Given the description of an element on the screen output the (x, y) to click on. 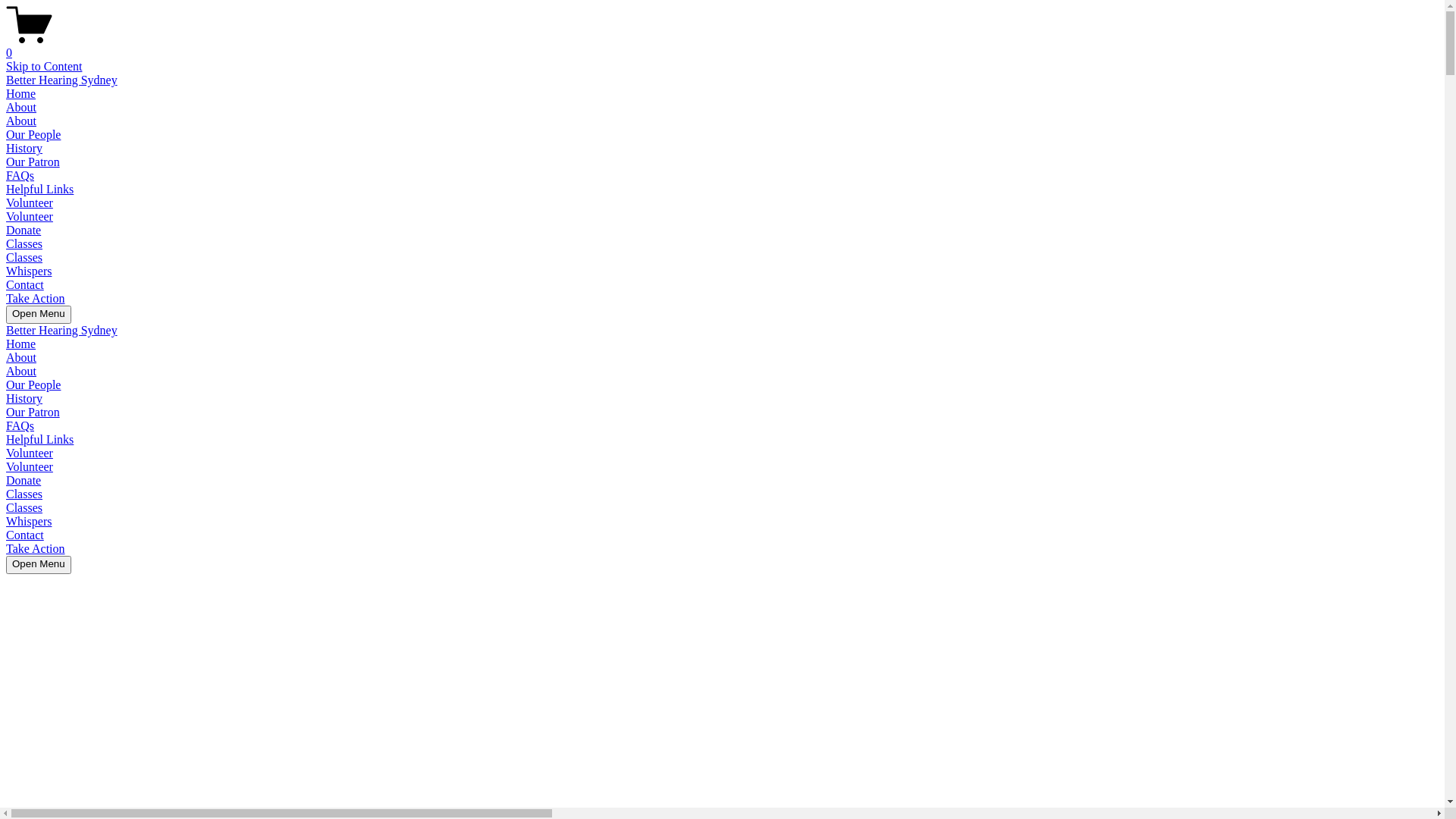
Donate Element type: text (23, 479)
Open Menu Element type: text (38, 314)
Whispers Element type: text (28, 520)
Better Hearing Sydney Element type: text (61, 79)
Take Action Element type: text (35, 548)
Volunteer Element type: text (29, 202)
About Element type: text (21, 120)
Volunteer Element type: text (29, 452)
About Element type: text (21, 357)
Volunteer Element type: text (29, 216)
Classes Element type: text (24, 257)
Our People Element type: text (33, 384)
Take Action Element type: text (35, 297)
About Element type: text (21, 370)
FAQs Element type: text (20, 175)
Home Element type: text (20, 93)
About Element type: text (21, 106)
Helpful Links Element type: text (39, 188)
Our Patron Element type: text (32, 411)
Open Menu Element type: text (38, 564)
History Element type: text (24, 398)
Whispers Element type: text (28, 270)
Donate Element type: text (23, 229)
Classes Element type: text (24, 493)
Our People Element type: text (33, 134)
Skip to Content Element type: text (43, 65)
Contact Element type: text (24, 534)
Our Patron Element type: text (32, 161)
Classes Element type: text (24, 243)
Home Element type: text (20, 343)
Contact Element type: text (24, 284)
Helpful Links Element type: text (39, 439)
Better Hearing Sydney Element type: text (61, 329)
FAQs Element type: text (20, 425)
Classes Element type: text (24, 507)
0 Element type: text (722, 45)
History Element type: text (24, 147)
Volunteer Element type: text (29, 466)
